Given the description of an element on the screen output the (x, y) to click on. 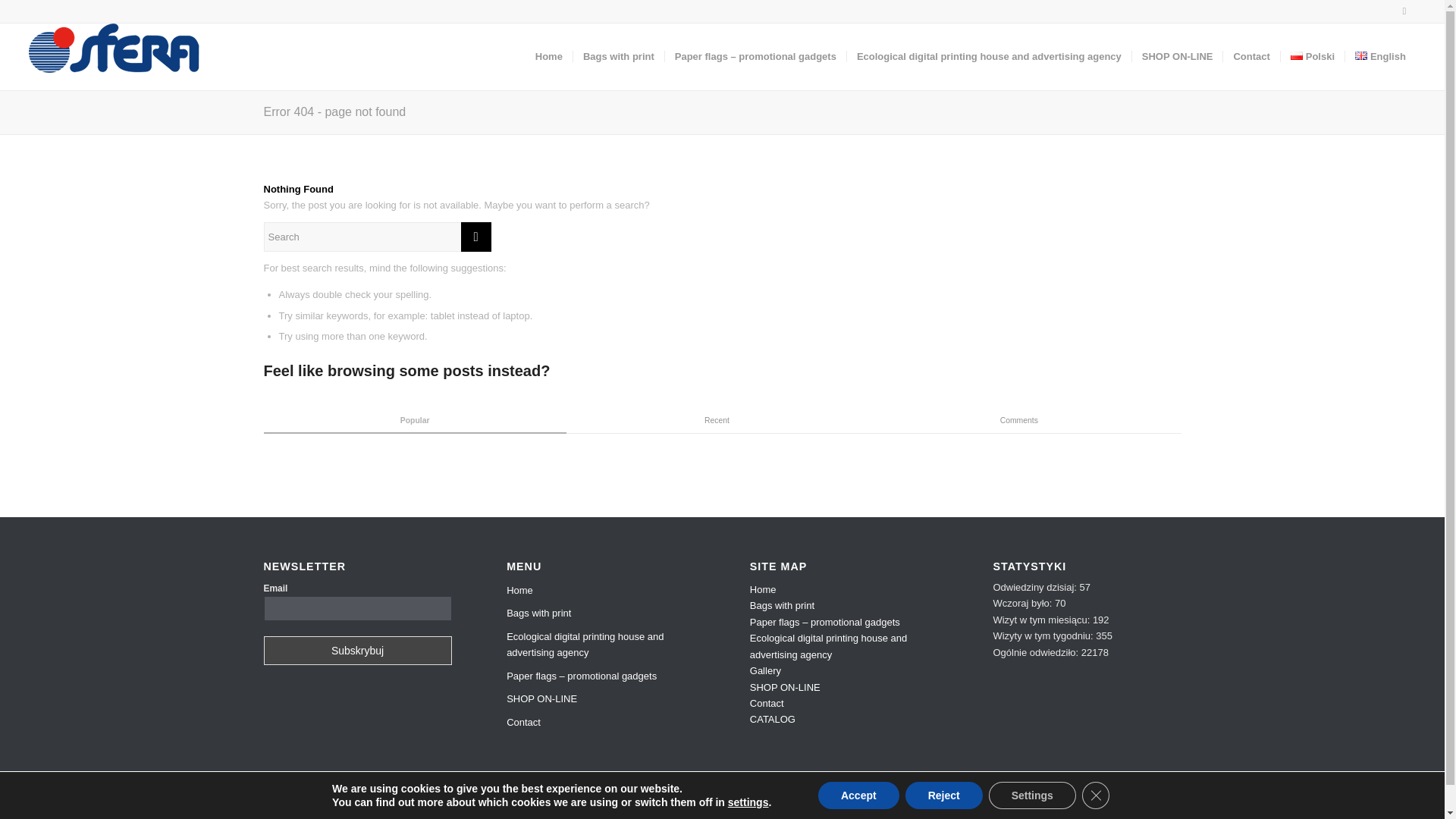
Contact (600, 722)
SHOP ON-LINE (600, 698)
Bags with print (600, 612)
English (1379, 56)
Facebook (1404, 11)
Subskrybuj (357, 650)
Ecological digital printing house and advertising agency (600, 645)
SHOP ON-LINE (1177, 56)
Home (762, 589)
Home (600, 590)
Bags with print (617, 56)
Ecological digital printing house and advertising agency (988, 56)
Polski (1311, 56)
Subskrybuj (357, 650)
